Given the description of an element on the screen output the (x, y) to click on. 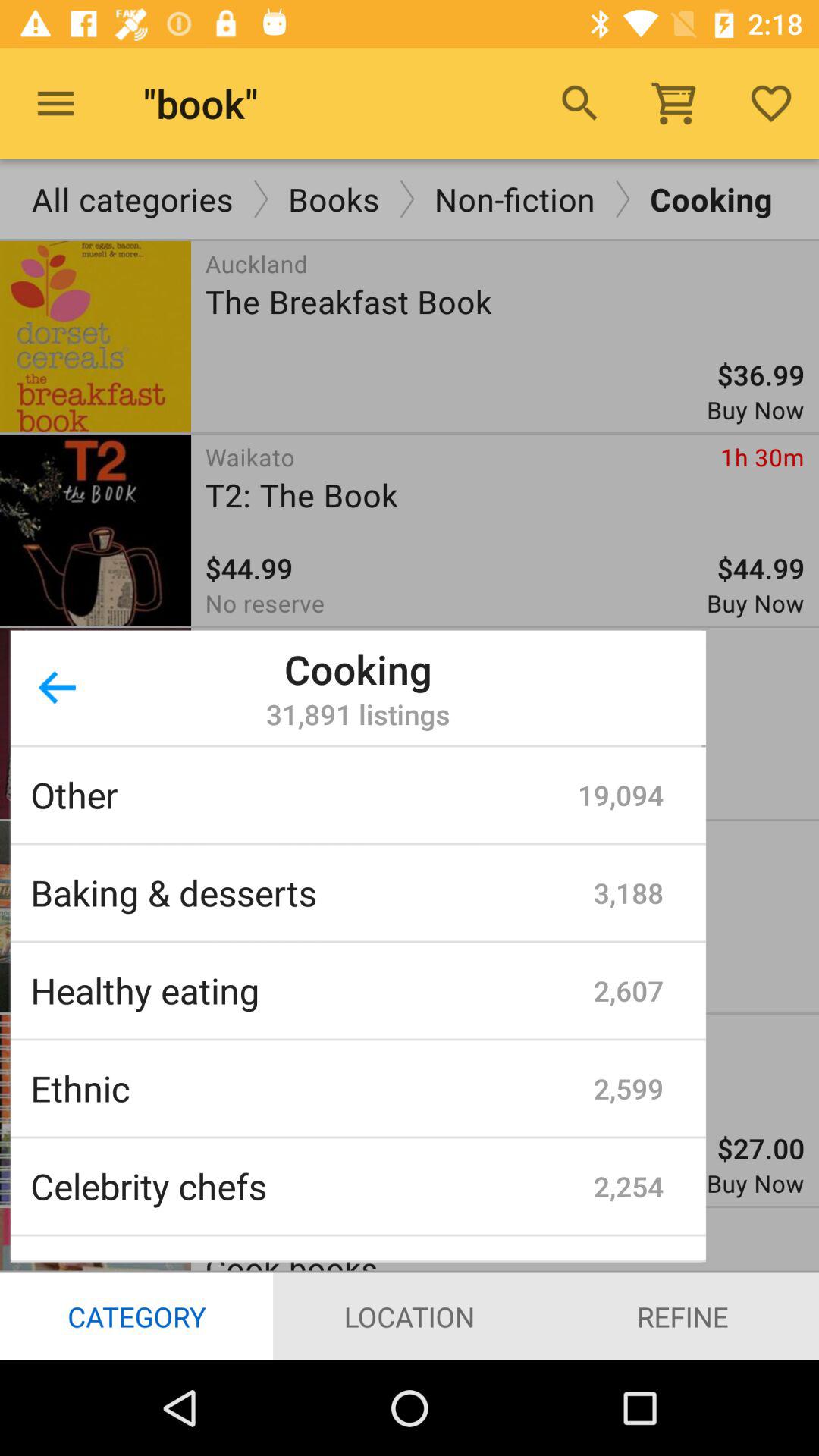
tap the icon above baking & desserts item (303, 794)
